Given the description of an element on the screen output the (x, y) to click on. 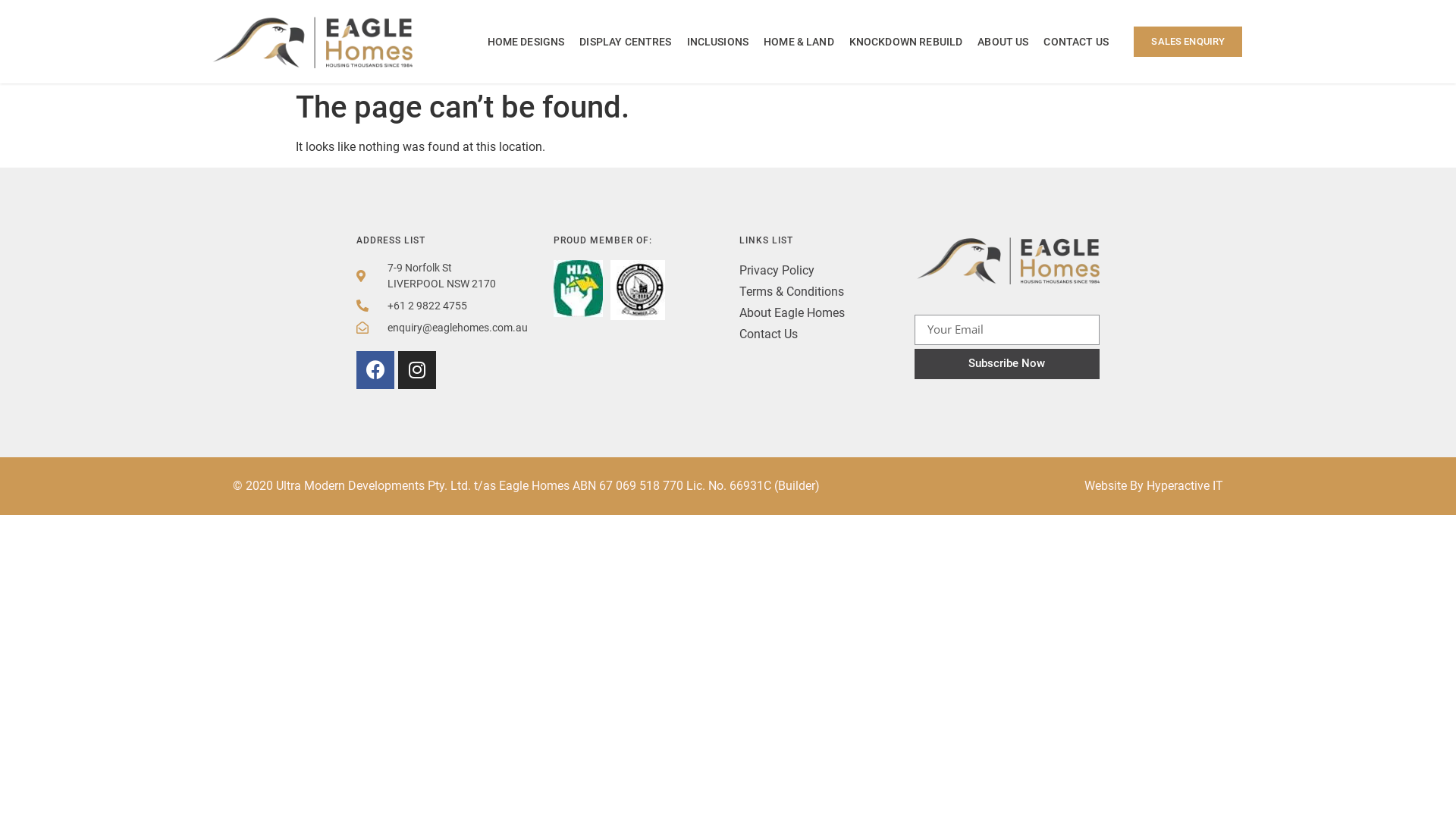
DISPLAY CENTRES Element type: text (624, 41)
enquiry@eaglehomes.com.au Element type: text (432, 327)
KNOCKDOWN REBUILD Element type: text (905, 41)
ABOUT US Element type: text (1002, 41)
Website By Hyperactive IT Element type: text (1153, 485)
SALES ENQUIRY Element type: text (1187, 41)
+61 2 9822 4755 Element type: text (432, 305)
HOME & LAND Element type: text (798, 41)
Subscribe Now Element type: text (1006, 363)
Privacy Policy Element type: text (804, 270)
INCLUSIONS Element type: text (717, 41)
CONTACT US Element type: text (1075, 41)
HOME DESIGNS Element type: text (525, 41)
Contact Us Element type: text (804, 334)
Terms & Conditions Element type: text (804, 291)
About Eagle Homes Element type: text (804, 312)
